Given the description of an element on the screen output the (x, y) to click on. 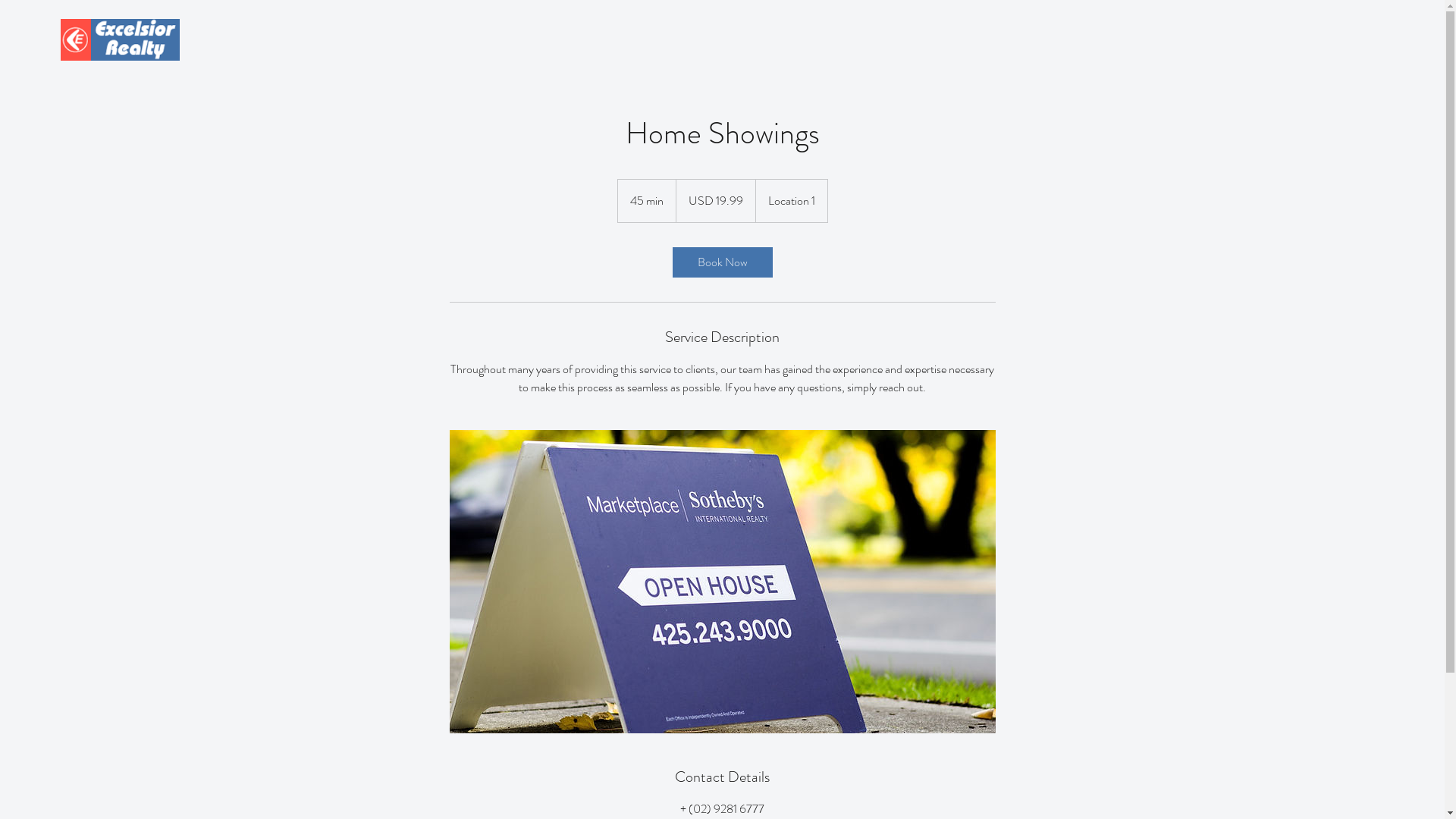
Book Now Element type: text (721, 262)
